Given the description of an element on the screen output the (x, y) to click on. 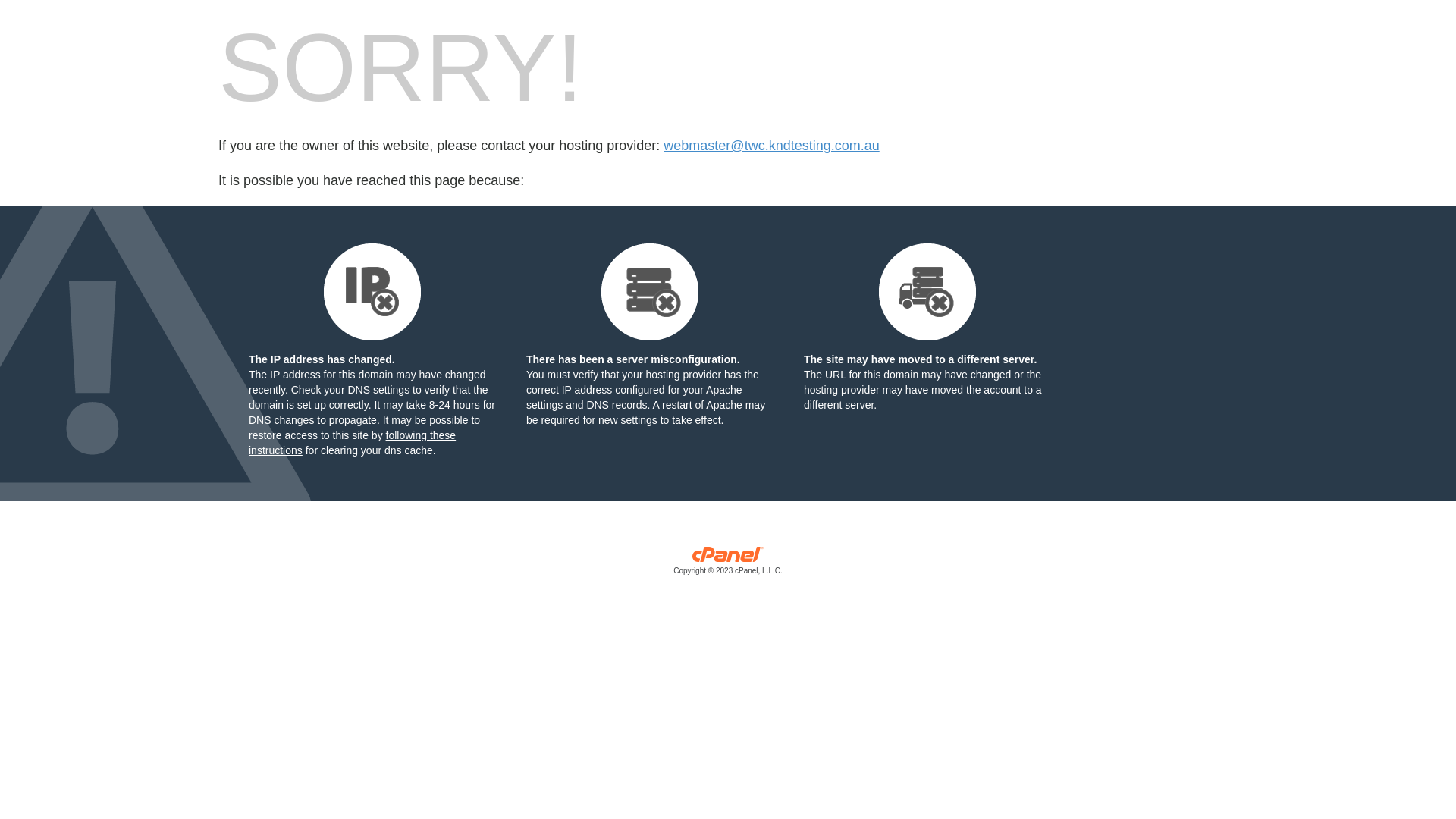
following these instructions Element type: text (351, 442)
webmaster@twc.kndtesting.com.au Element type: text (770, 145)
